Given the description of an element on the screen output the (x, y) to click on. 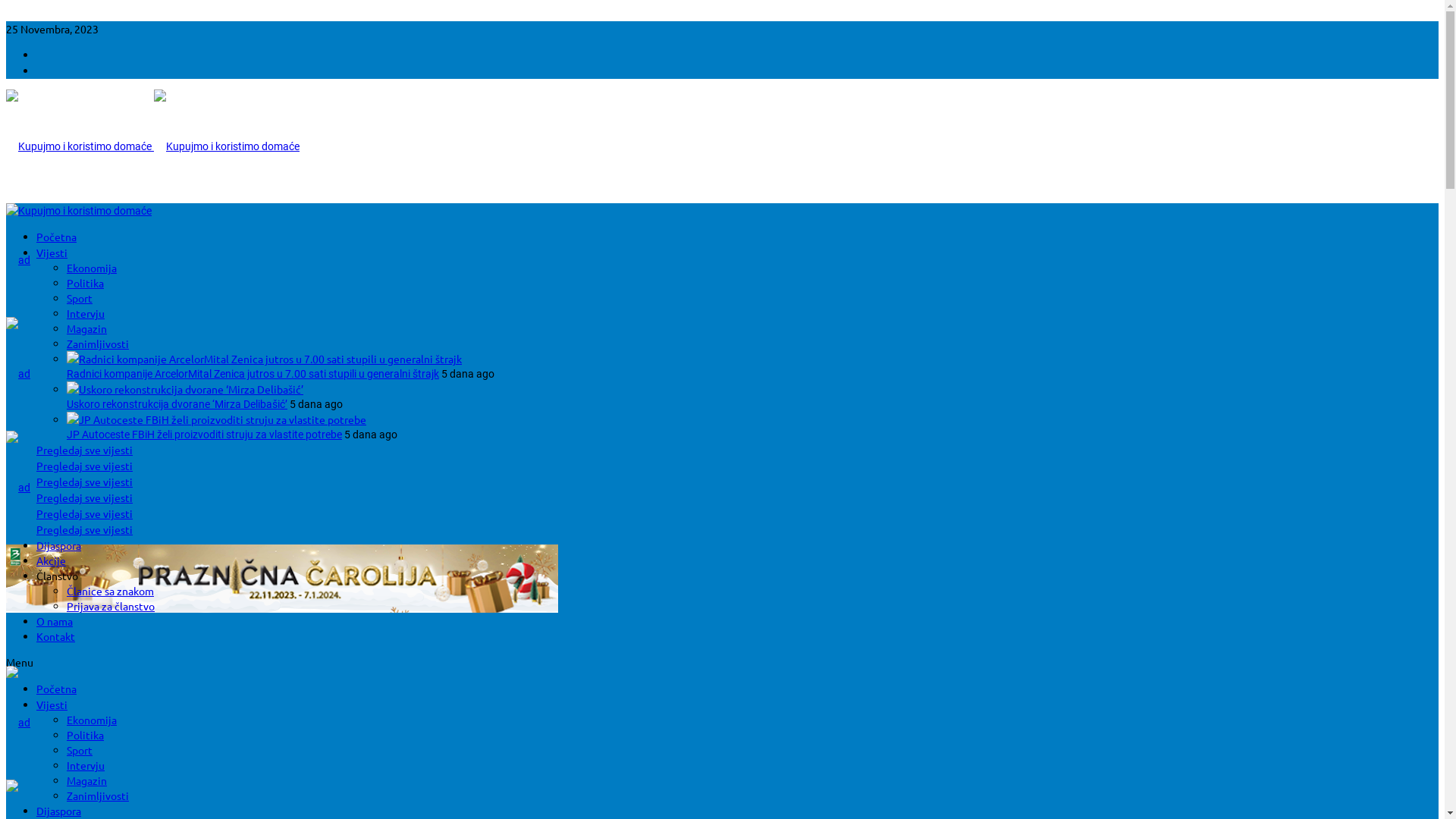
Pregledaj sve vijesti Element type: text (84, 465)
Ekonomija Element type: text (91, 267)
Pregledaj sve vijesti Element type: text (84, 529)
Politika Element type: text (84, 282)
Pregledaj sve vijesti Element type: text (84, 449)
Magazin Element type: text (86, 328)
Intervju Element type: text (85, 764)
Sport Element type: text (79, 297)
Kontakt Element type: text (55, 636)
Zanimljivosti Element type: text (97, 795)
Intervju Element type: text (85, 313)
Sport Element type: text (79, 749)
O nama Element type: text (54, 620)
Magazin Element type: text (86, 780)
Politika Element type: text (84, 734)
Dijaspora Element type: text (58, 545)
Zanimljivosti Element type: text (97, 343)
Ekonomija Element type: text (91, 719)
Dijaspora Element type: text (58, 810)
Pregledaj sve vijesti Element type: text (84, 513)
Vijesti Element type: text (51, 704)
Vijesti Element type: text (51, 252)
Pregledaj sve vijesti Element type: text (84, 481)
Pregledaj sve vijesti Element type: text (84, 497)
Akcije Element type: text (50, 560)
